Given the description of an element on the screen output the (x, y) to click on. 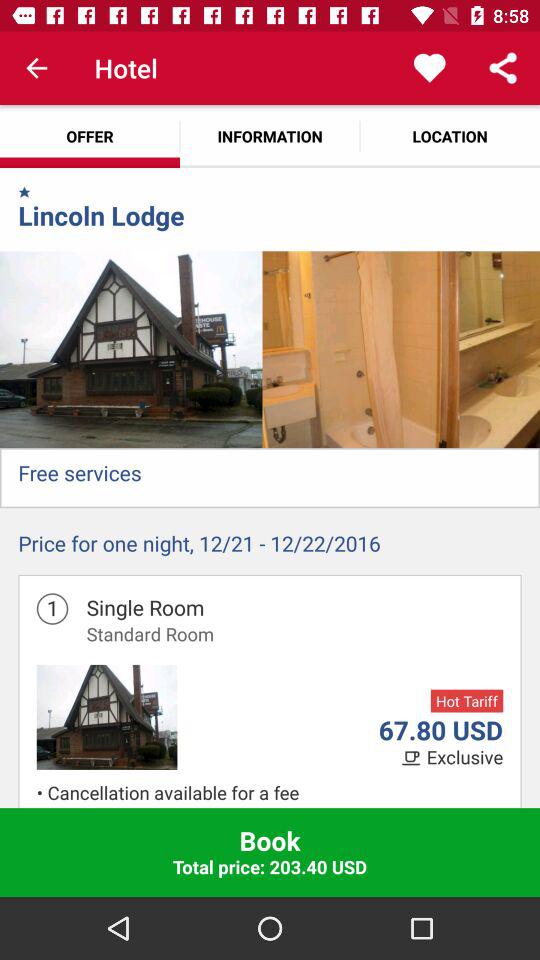
turn on the exclusive icon (464, 757)
